Given the description of an element on the screen output the (x, y) to click on. 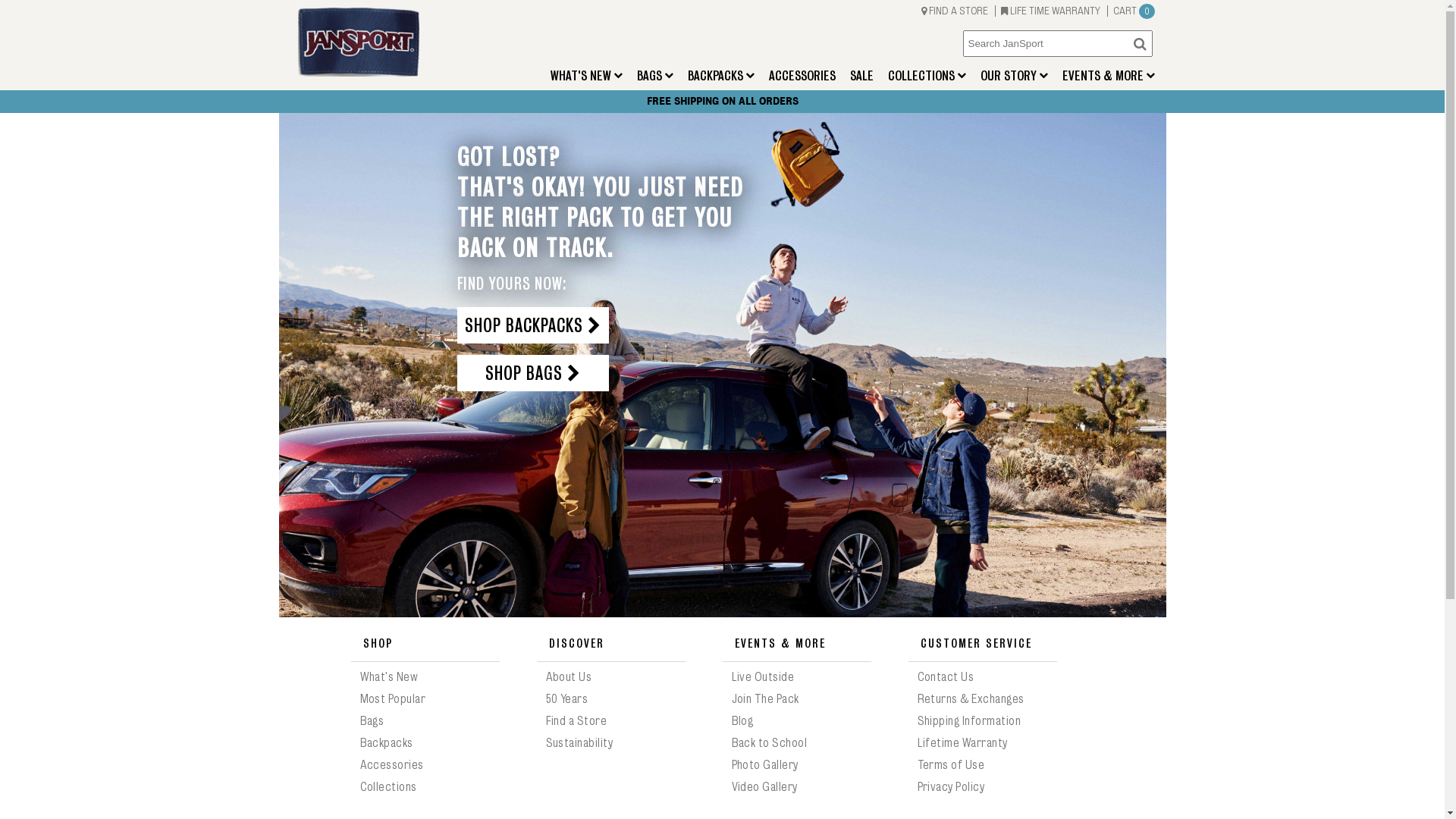
SHOP Element type: text (424, 643)
SHOP BAGS Element type: text (532, 372)
SALE Element type: text (860, 75)
Sustainability Element type: text (579, 743)
Bags Element type: text (371, 721)
WHAT'S NEW Element type: text (586, 74)
FREE SHIPPING ON ALL ORDERS Element type: text (721, 100)
DISCOVER Element type: text (610, 643)
BAGS Element type: text (655, 74)
What's New Element type: text (388, 677)
About Us Element type: text (569, 677)
Privacy Policy Element type: text (951, 787)
Blog Element type: text (742, 721)
Lifetime Warranty Element type: text (962, 743)
Collections Element type: text (387, 787)
Shipping Information Element type: text (969, 721)
Terms of Use Element type: text (951, 765)
EVENTS & MORE Element type: text (1107, 74)
SHOP BACKPACKS Element type: text (532, 325)
EVENTS & MORE Element type: text (795, 643)
Backpacks Element type: text (385, 743)
OUR STORY Element type: text (1013, 74)
Photo Gallery Element type: text (764, 765)
CART 0 Element type: text (1130, 10)
BACKPACKS Element type: text (720, 74)
CUSTOMER SERVICE Element type: text (982, 643)
Returns & Exchanges Element type: text (970, 699)
Find a Store Element type: text (576, 721)
Join The Pack Element type: text (764, 699)
Back to School Element type: text (768, 743)
ACCESSORIES Element type: text (801, 75)
Accessories Element type: text (391, 765)
LIFE TIME WARRANTY Element type: text (1051, 10)
Most Popular Element type: text (392, 699)
Contact Us Element type: text (945, 677)
50 Years Element type: text (567, 699)
COLLECTIONS Element type: text (926, 74)
Live Outside Element type: text (762, 677)
Video Gallery Element type: text (764, 787)
FIND A STORE Element type: text (955, 10)
